Given the description of an element on the screen output the (x, y) to click on. 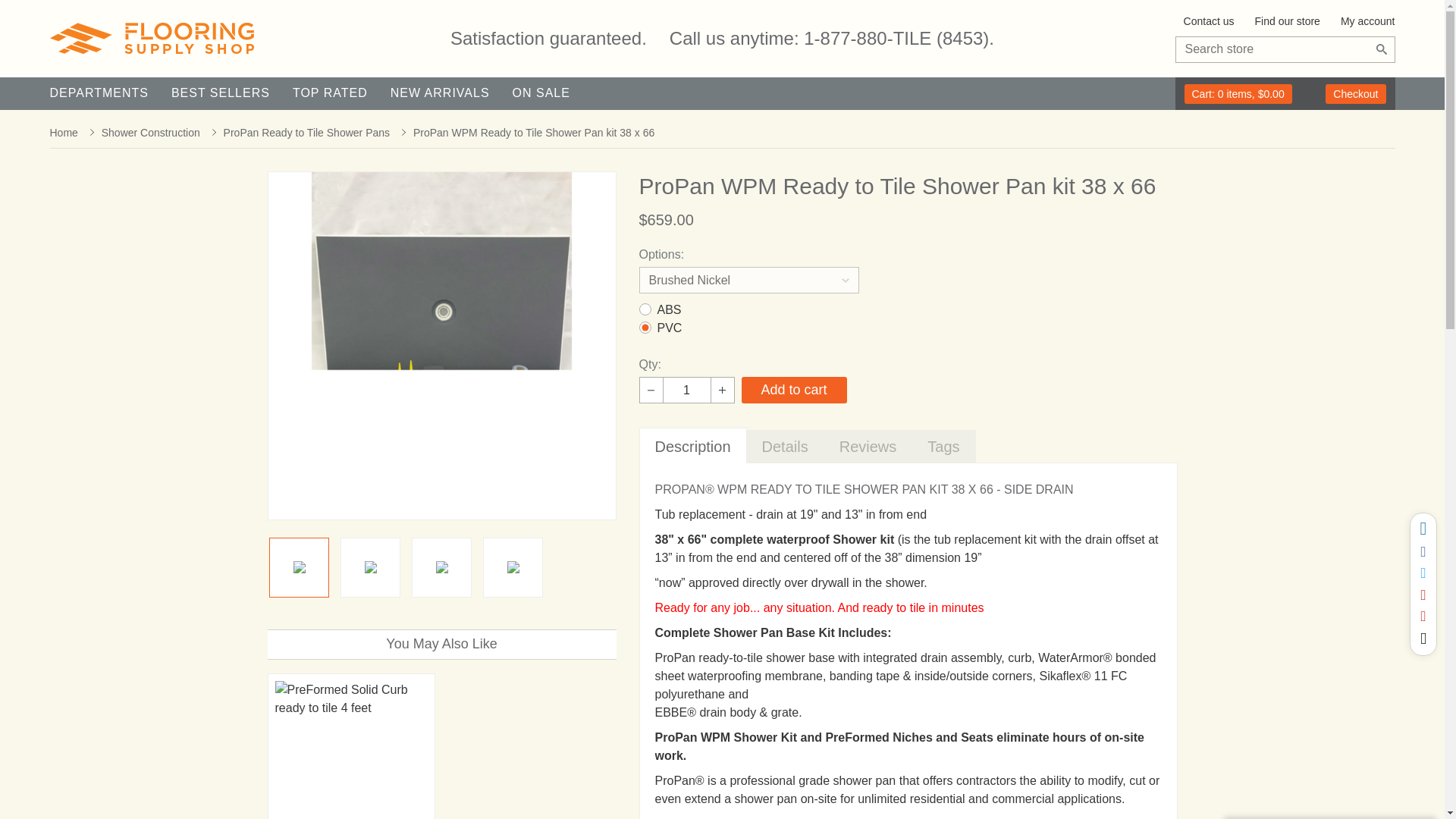
1 (686, 389)
